Given the description of an element on the screen output the (x, y) to click on. 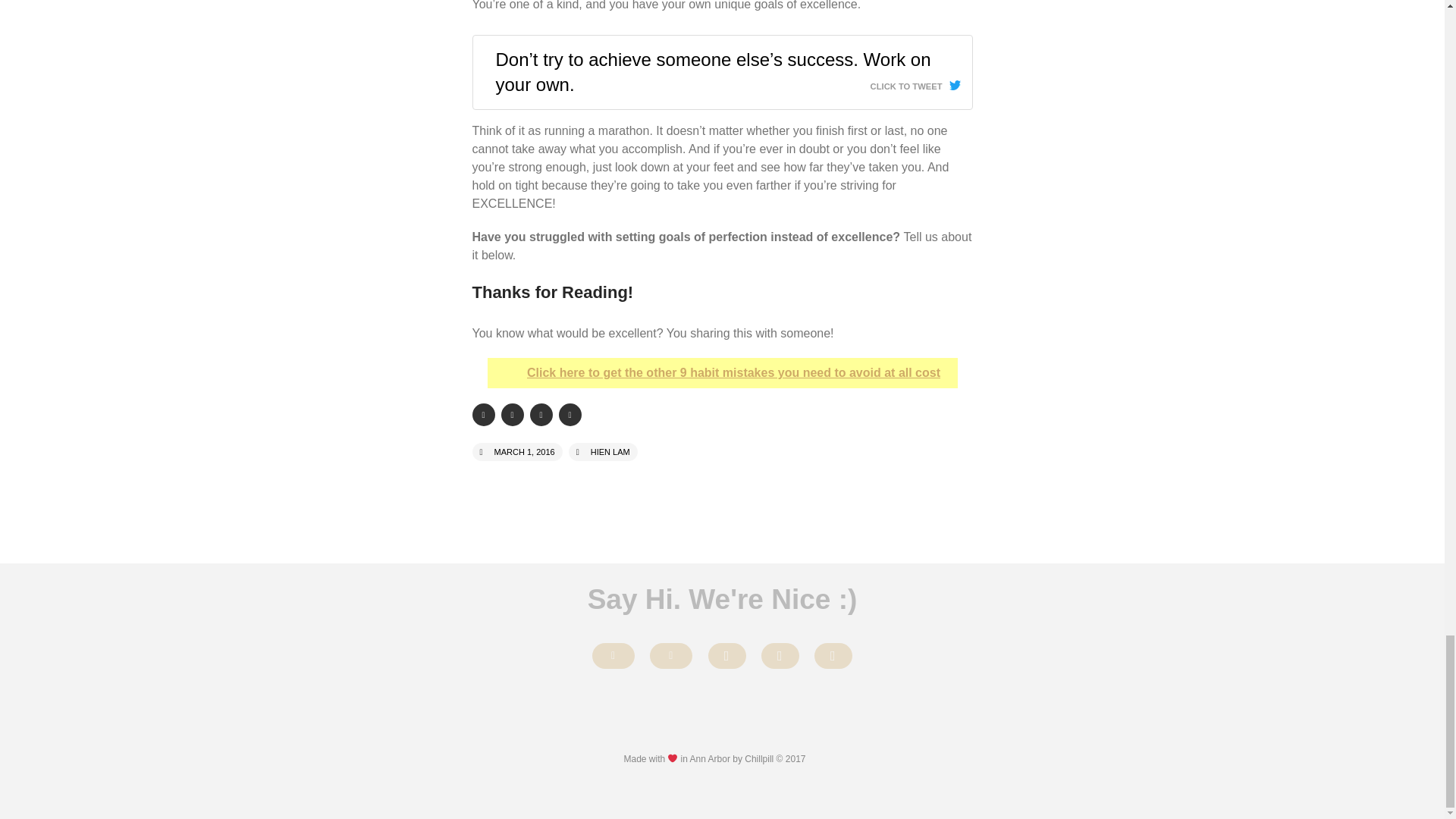
View all posts by Hien Lam (610, 451)
CLICK TO TWEET (915, 82)
HIEN LAM (610, 451)
